Given the description of an element on the screen output the (x, y) to click on. 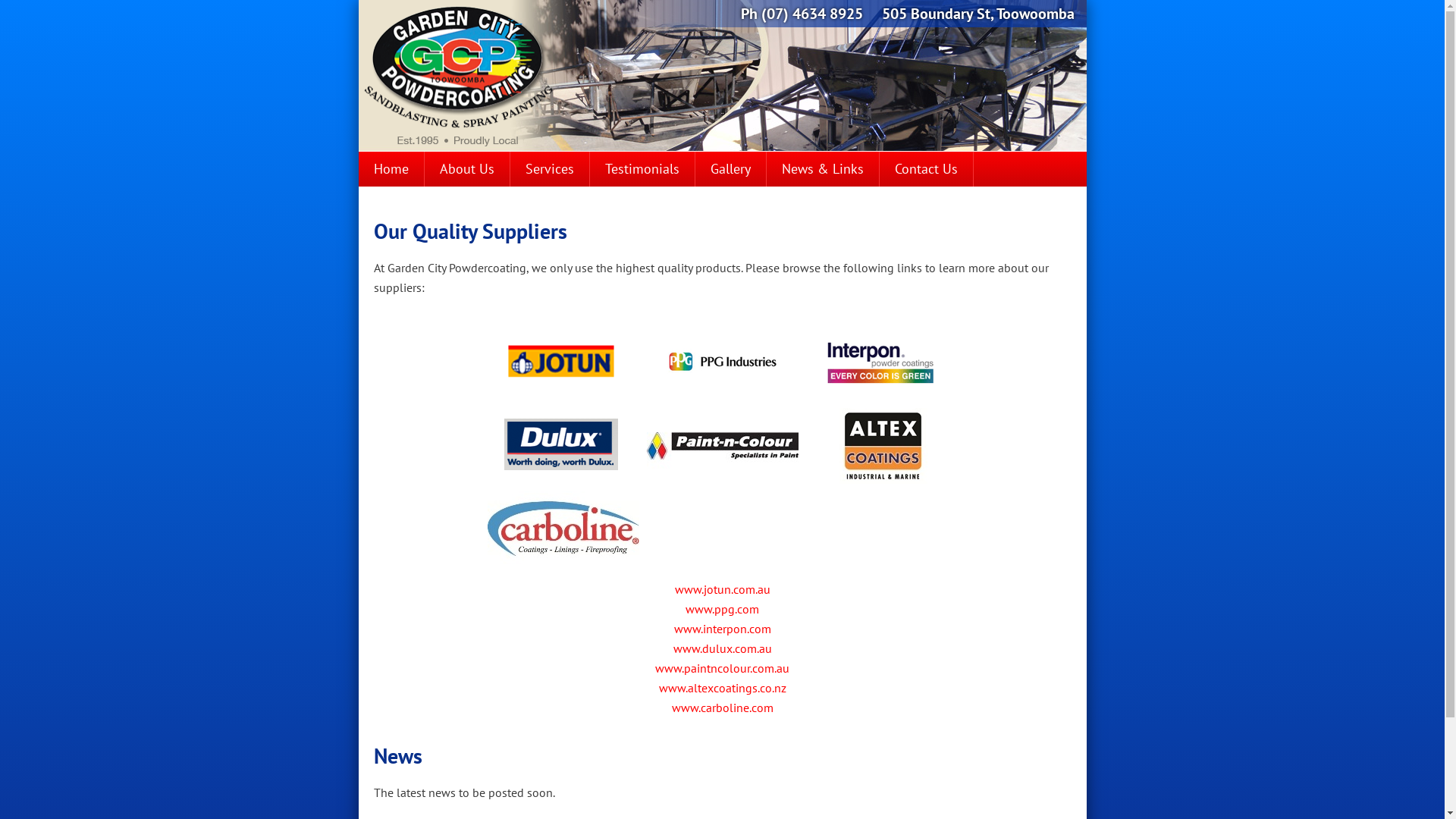
Gallery Element type: text (729, 168)
Testimonials Element type: text (641, 168)
www.carboline.com Element type: text (722, 707)
www.interpon.com Element type: text (721, 628)
www.ppg.com Element type: text (722, 608)
Contact Us Element type: text (925, 168)
www.paintncolour.com.au Element type: text (722, 667)
News & Links Element type: text (821, 168)
(07) 4634 8925 Element type: text (811, 13)
Services Element type: text (548, 168)
www.jotun.com.au Element type: text (722, 588)
www.dulux.com.au Element type: text (722, 647)
Home Element type: text (390, 168)
www.altexcoatings.co.nz Element type: text (721, 687)
About Us Element type: text (466, 168)
